Given the description of an element on the screen output the (x, y) to click on. 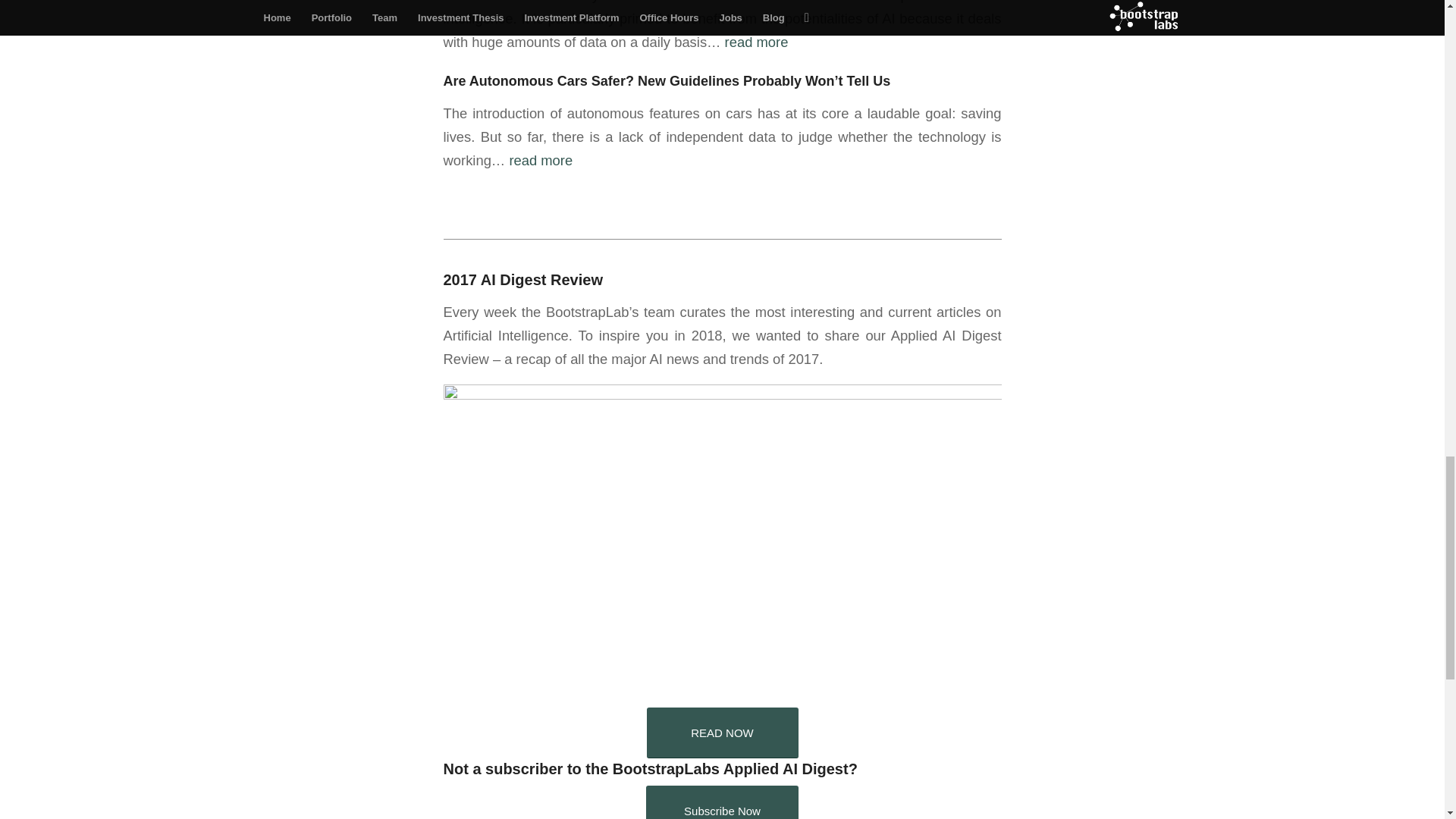
read more (540, 160)
read more (757, 41)
Subscribe Now (721, 802)
READ NOW (721, 732)
